Given the description of an element on the screen output the (x, y) to click on. 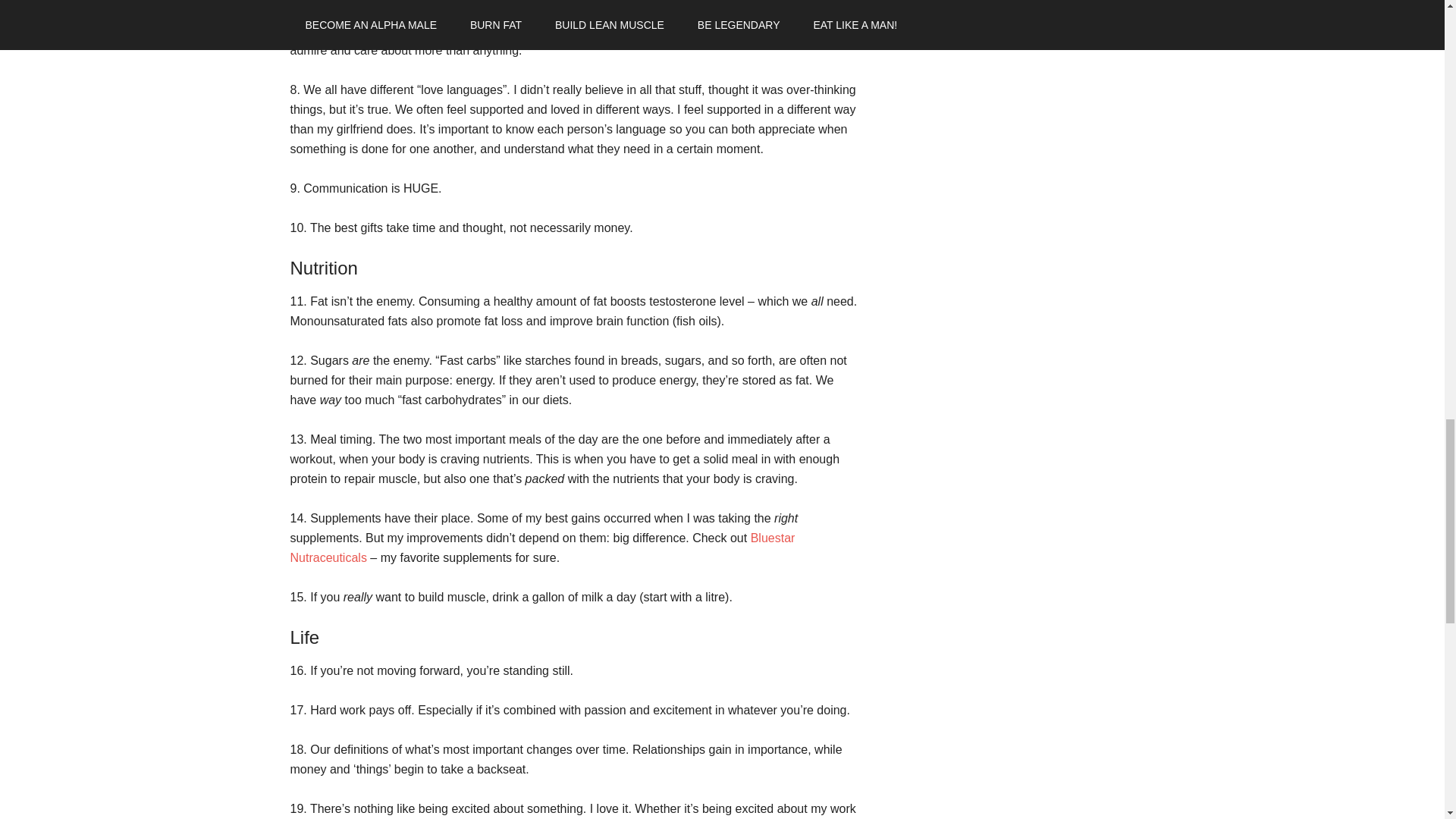
Bluestar Nutraceuticals (541, 547)
